Given the description of an element on the screen output the (x, y) to click on. 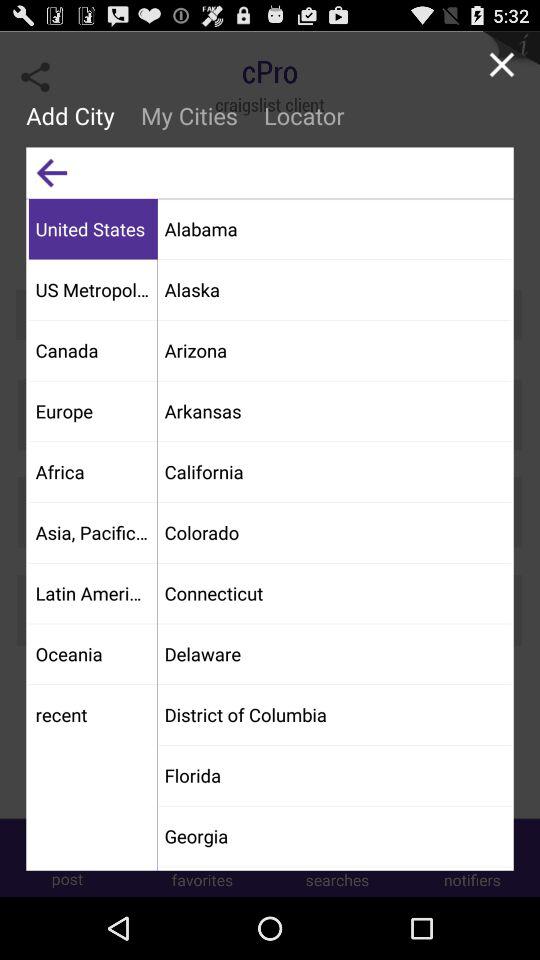
go to closed (501, 63)
